Given the description of an element on the screen output the (x, y) to click on. 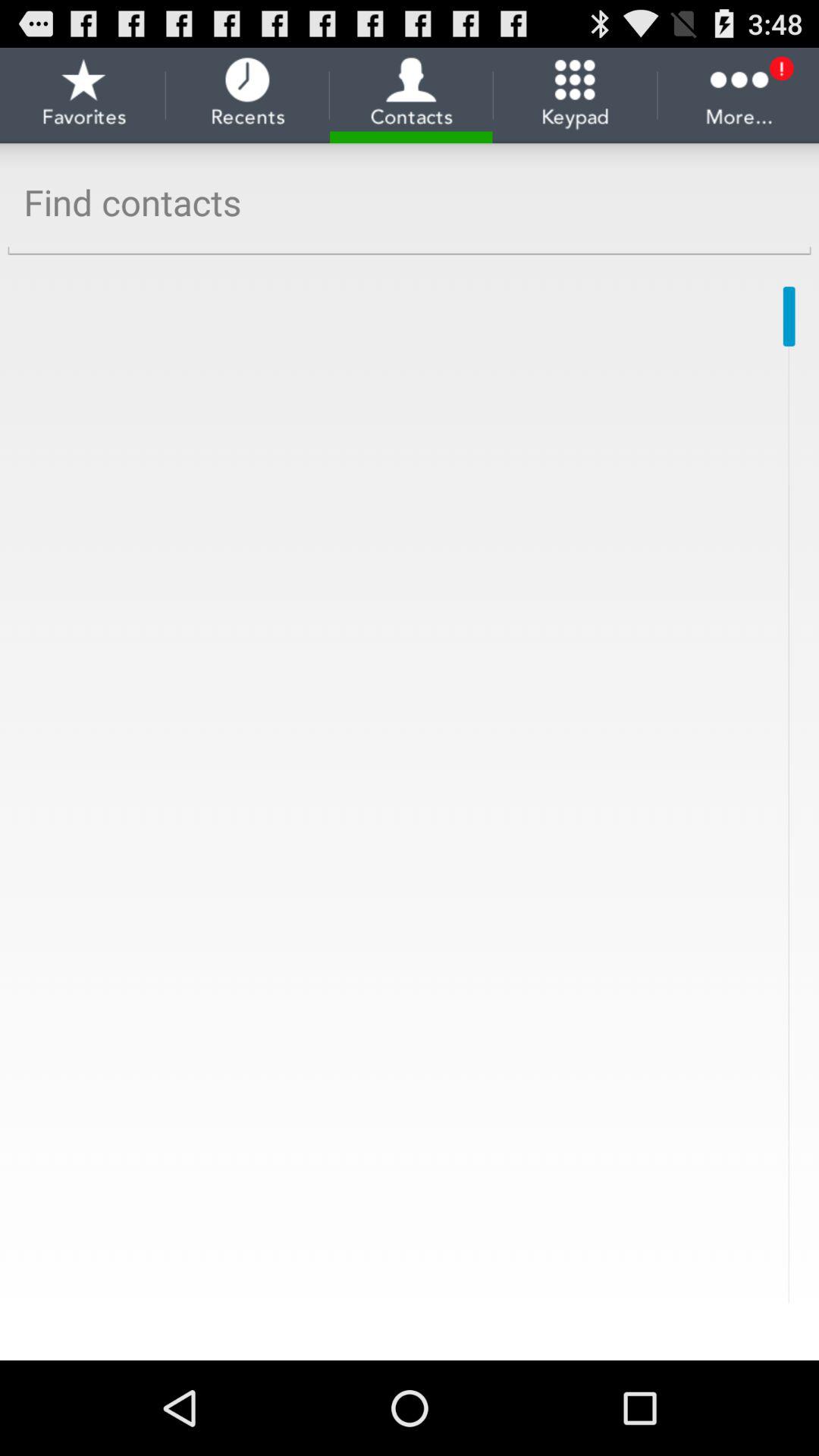
find contacts (409, 202)
